Given the description of an element on the screen output the (x, y) to click on. 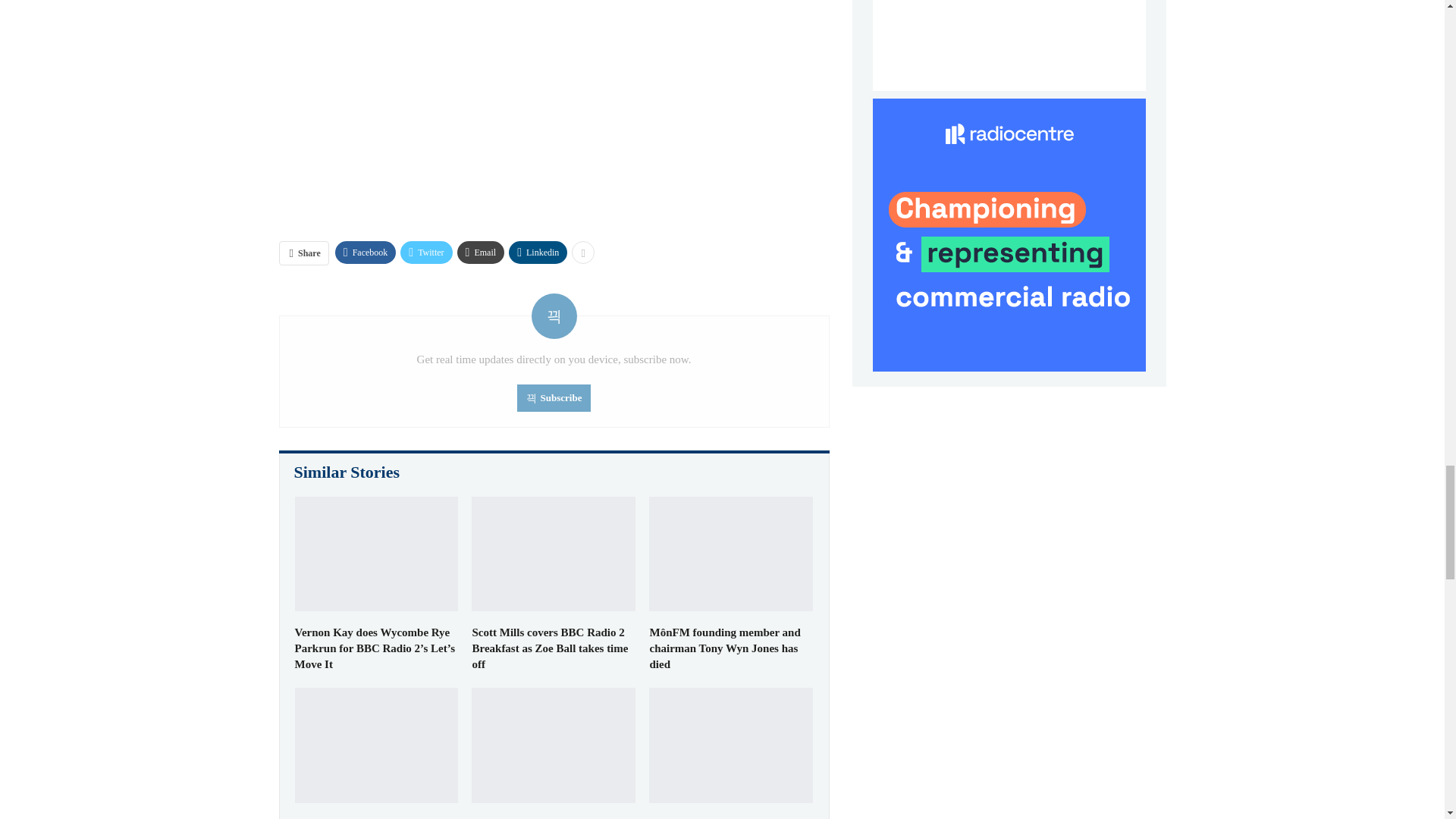
Radio Essentials launches Prep Generator (730, 744)
Toby Tarrant to pedal 56 miles down River Thames for charity (376, 744)
